Given the description of an element on the screen output the (x, y) to click on. 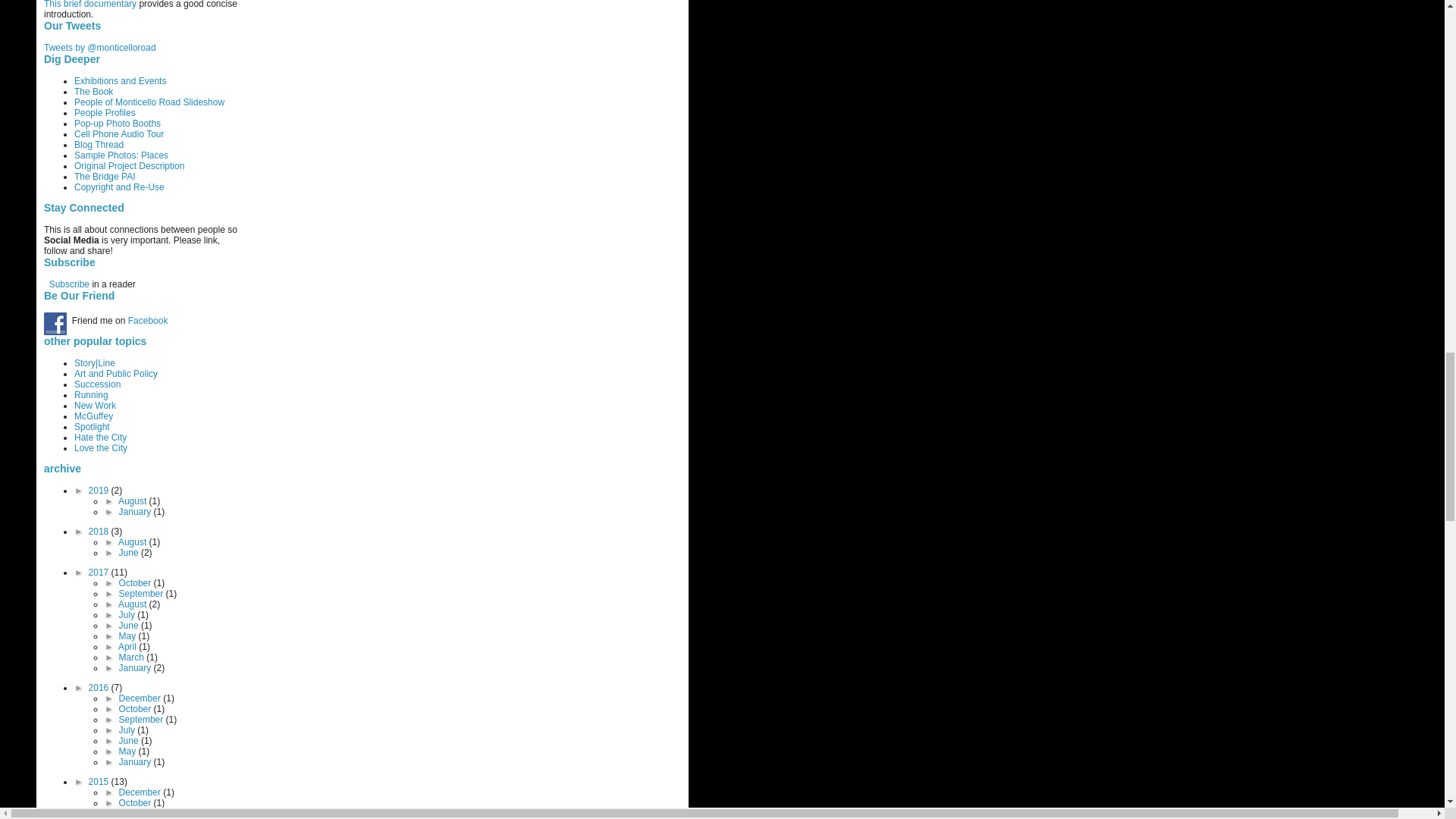
The Book (93, 91)
Exhibitions and Events (119, 81)
People of Monticello Road Slideshow (149, 102)
Cell Phone Audio Tour (119, 133)
Pop-up Photo Booths (117, 122)
Subscribe to my feed (68, 284)
This brief documentary (89, 4)
People Profiles (104, 112)
